Given the description of an element on the screen output the (x, y) to click on. 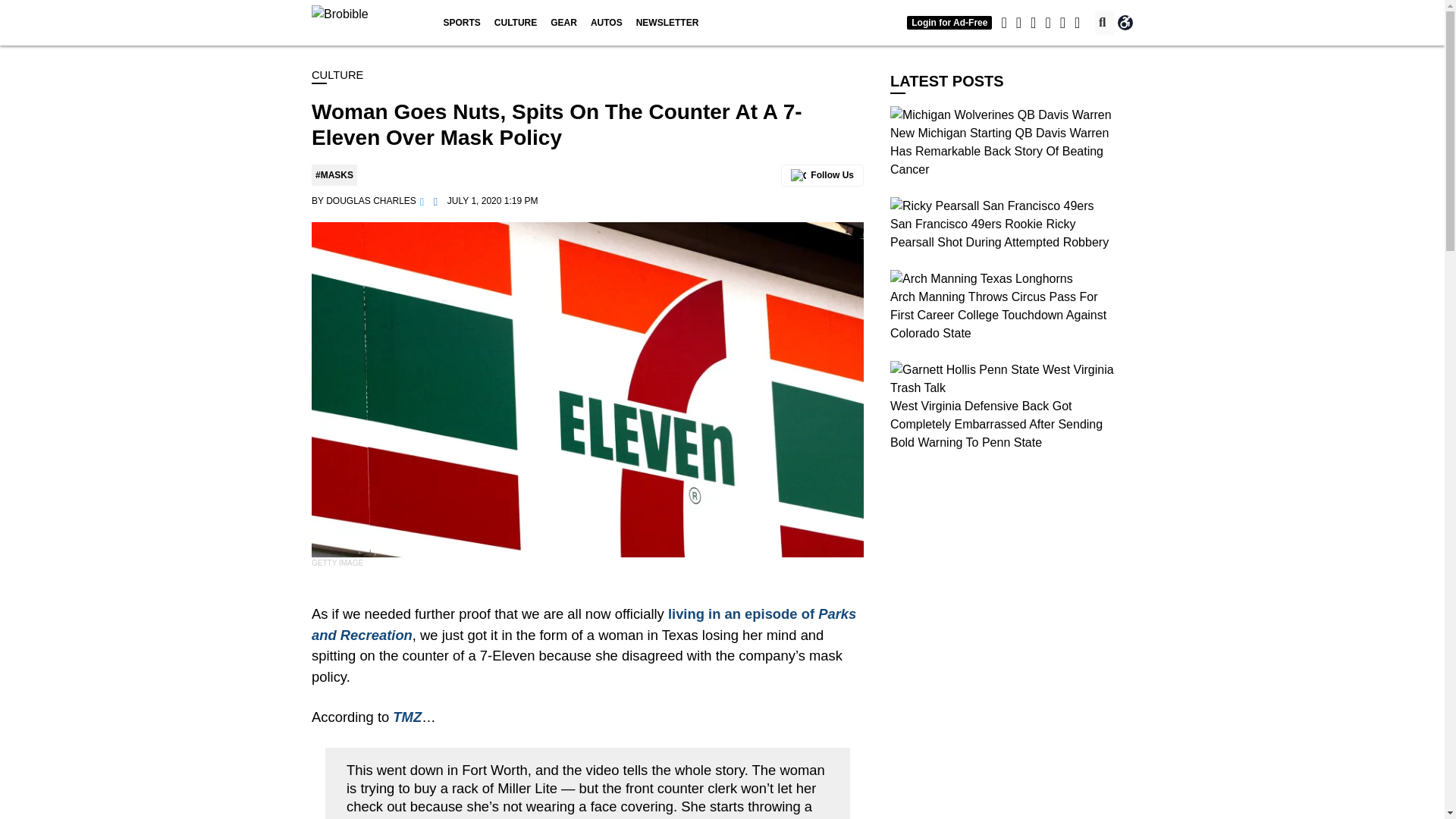
CULTURE (515, 22)
SPORTS (460, 22)
Accessibility (1125, 22)
Posts by Douglas Charles (371, 200)
Follow us on Google News (821, 175)
Login for Ad-Free (949, 22)
